Given the description of an element on the screen output the (x, y) to click on. 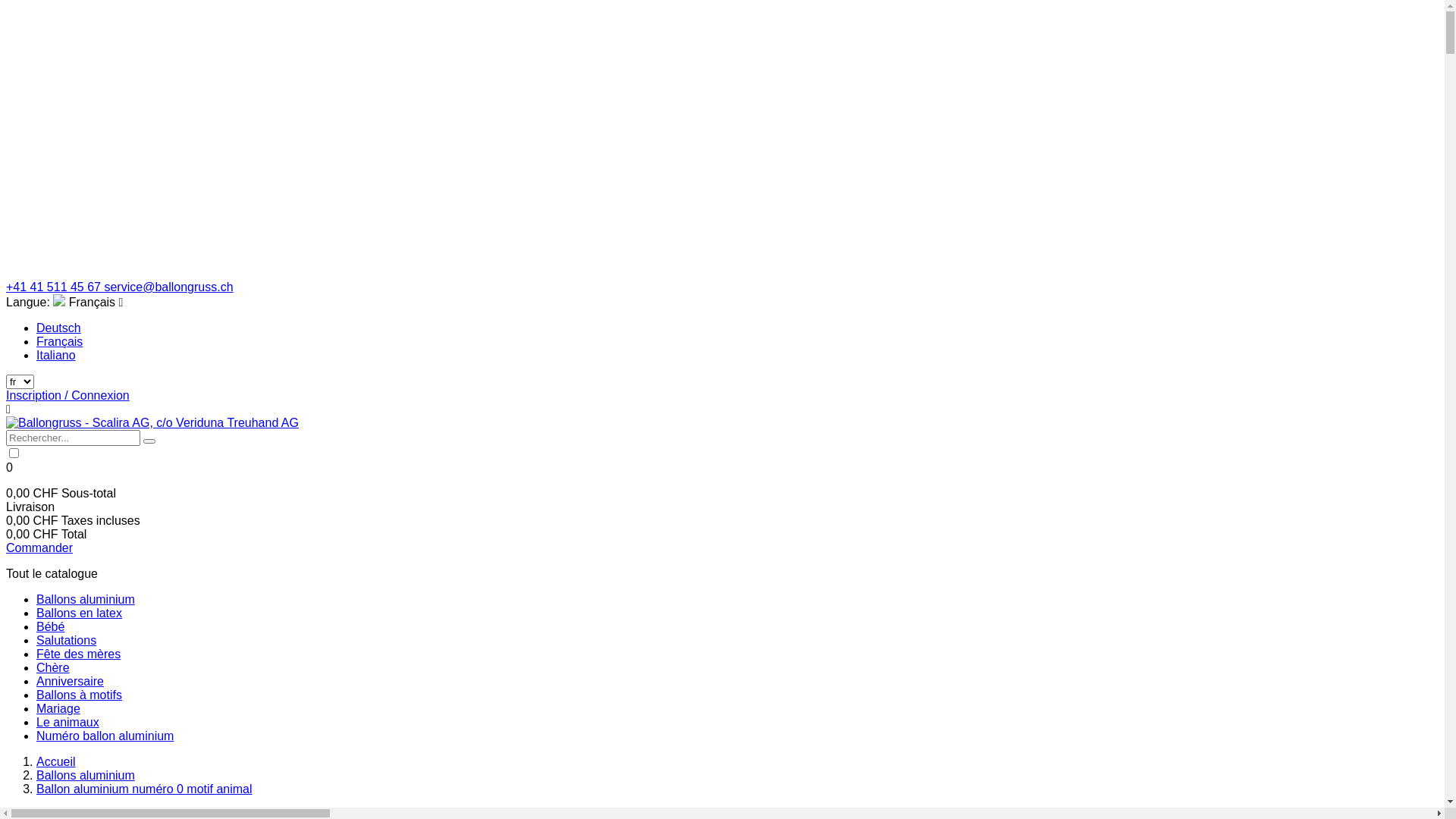
Deutsch Element type: text (58, 327)
Le animaux Element type: text (67, 721)
Ballons aluminium Element type: text (85, 774)
Italiano Element type: text (55, 354)
Inscription / Connexion Element type: text (67, 395)
Ballons aluminium Element type: text (85, 599)
Ballons en latex Element type: text (79, 612)
Accueil Element type: text (55, 761)
Mariage Element type: text (58, 708)
Anniversaire Element type: text (69, 680)
service@ballongruss.ch Element type: text (167, 286)
Commander Element type: text (39, 547)
Salutations Element type: text (66, 639)
+41 41 511 45 67 Element type: text (54, 286)
